Given the description of an element on the screen output the (x, y) to click on. 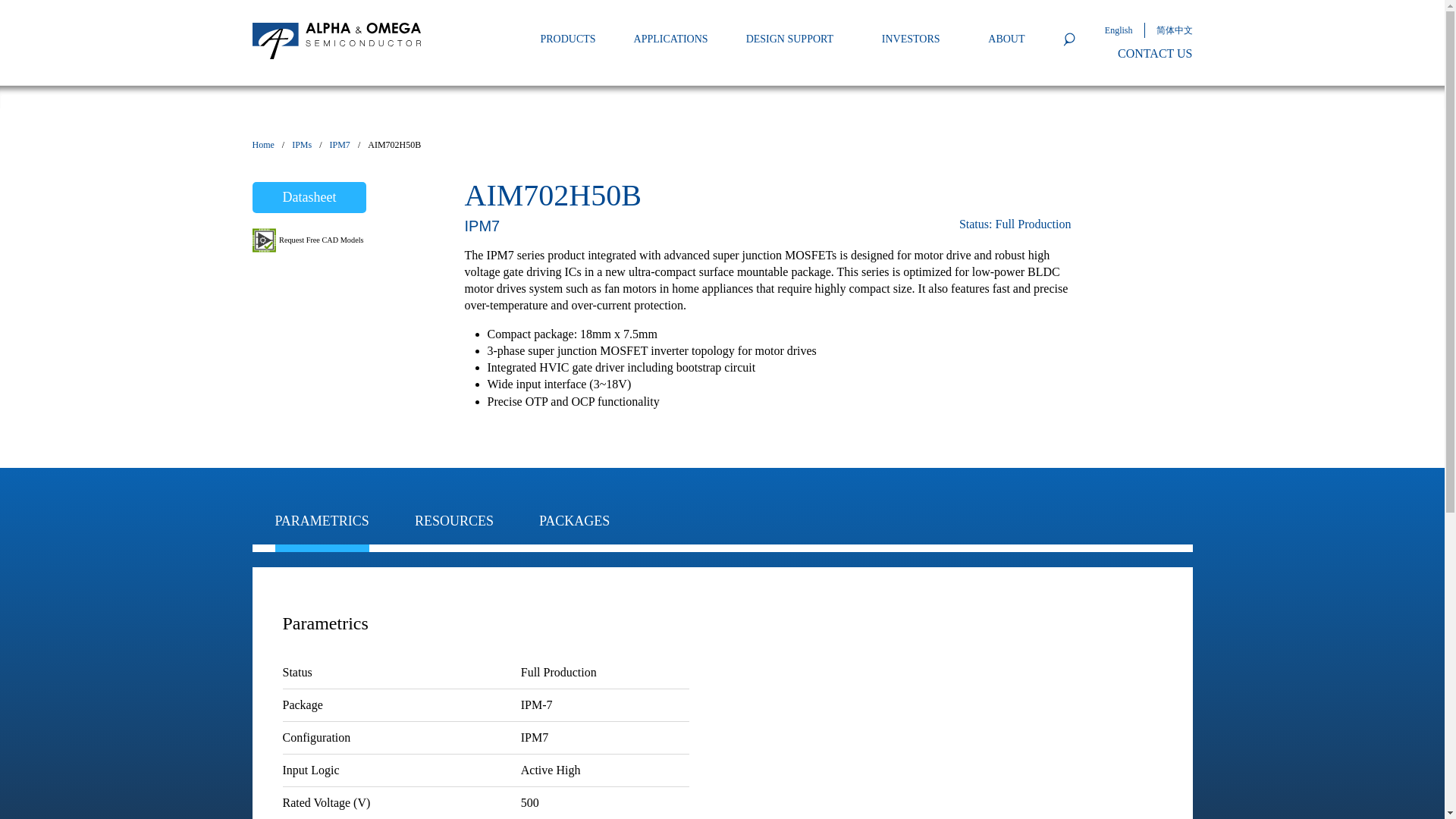
INVESTORS (910, 39)
English (1130, 29)
CONTACT US (1155, 53)
IPMs (301, 144)
Home (262, 144)
